Given the description of an element on the screen output the (x, y) to click on. 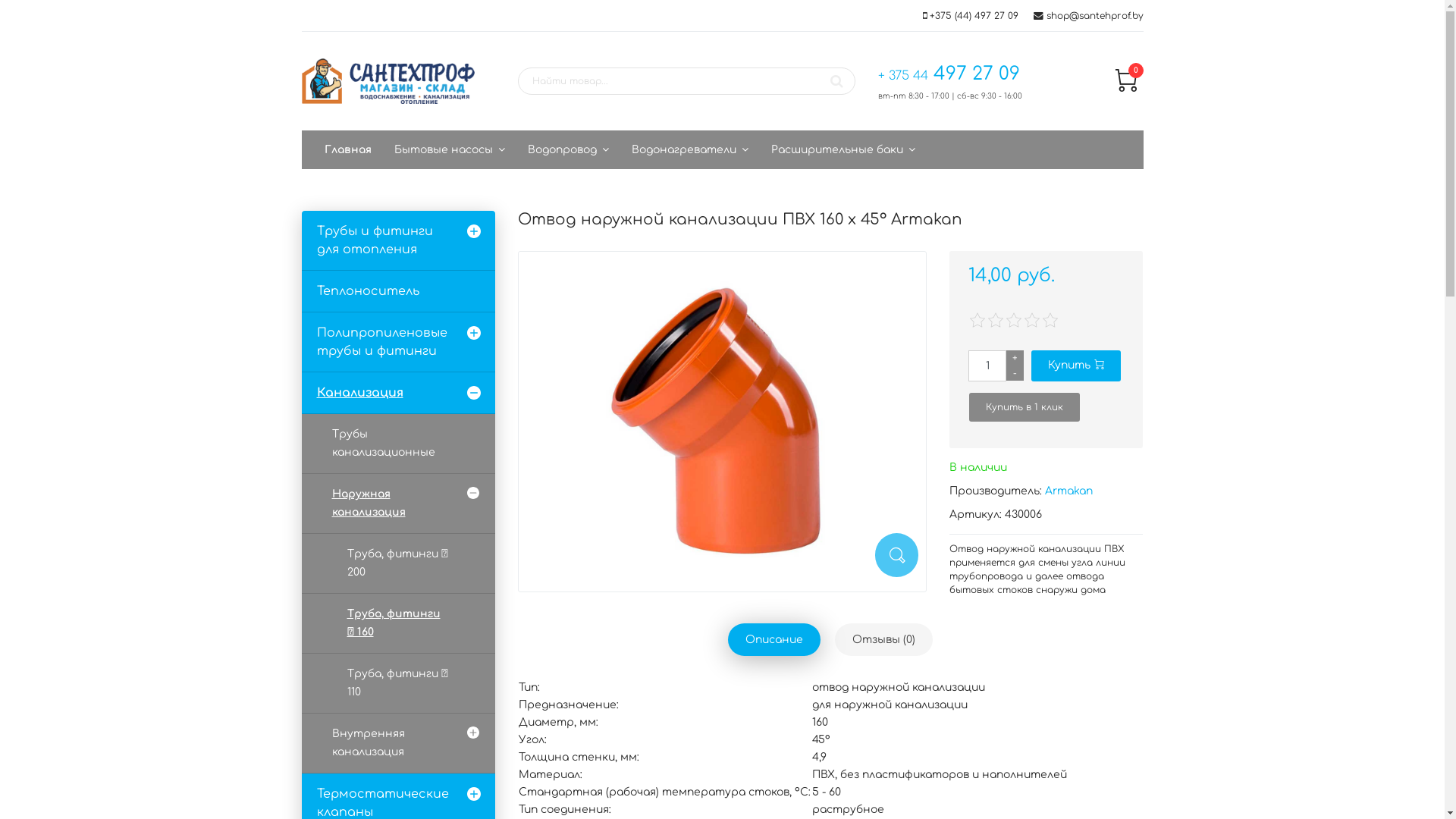
+375 (44) 497 27 09 Element type: text (973, 15)
Armakan Element type: text (1068, 490)
+ 375 44 497 27 09 Element type: text (948, 73)
shop@santehprof.by Element type: text (1094, 15)
0 Element type: text (1125, 87)
+ Element type: text (1014, 357)
- Element type: text (1014, 372)
